Given the description of an element on the screen output the (x, y) to click on. 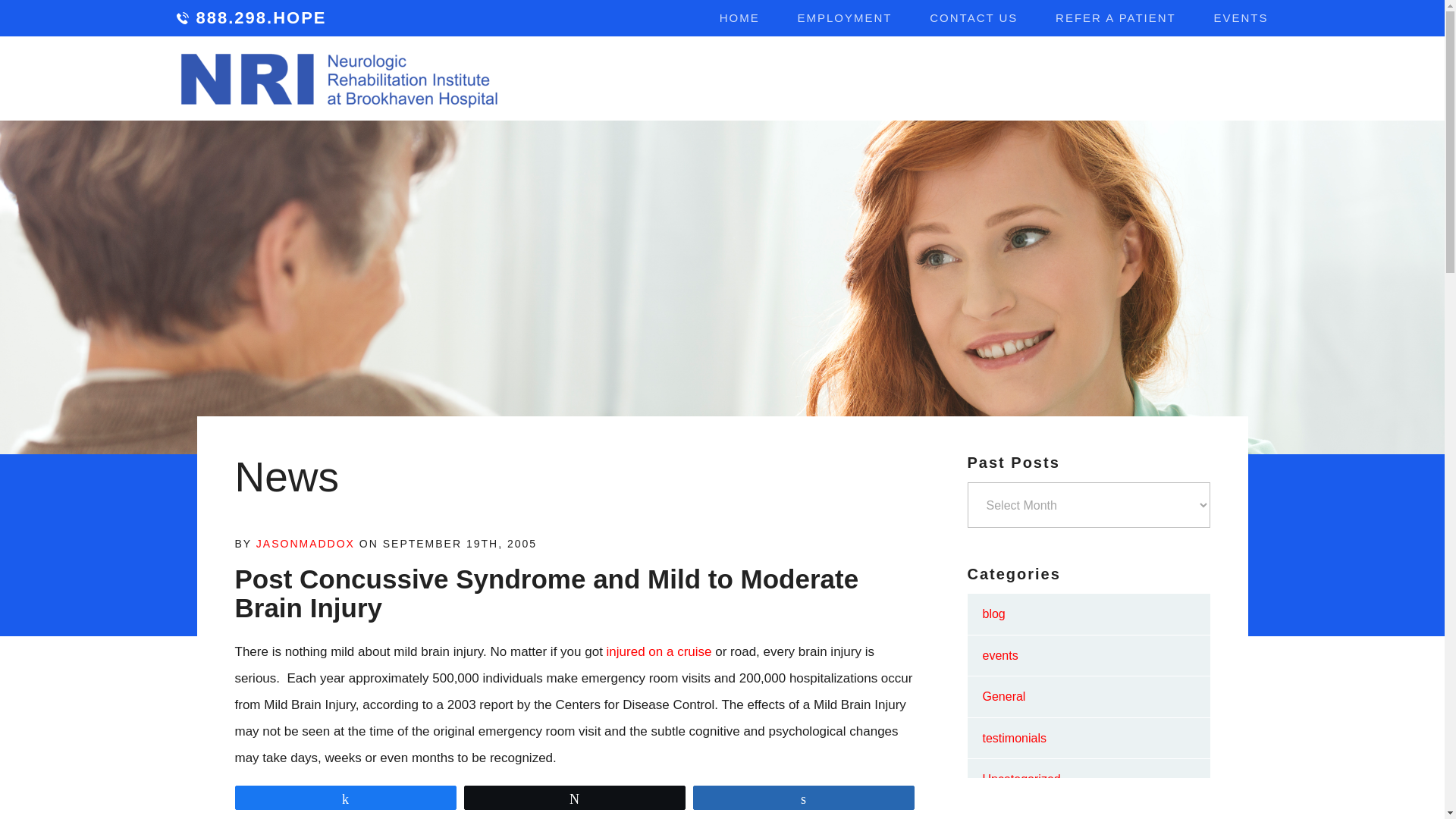
ABOUT US (654, 80)
Go (1245, 79)
EMPLOYMENT (844, 17)
REFER A PATIENT (1115, 17)
ADMISSIONS PROCESS (1134, 80)
HOME (739, 17)
PROGRAMS (770, 80)
EVENTS (1240, 17)
CONTACT US (973, 17)
Posts by jasonmaddox (305, 542)
888.298.HOPE (251, 18)
